Given the description of an element on the screen output the (x, y) to click on. 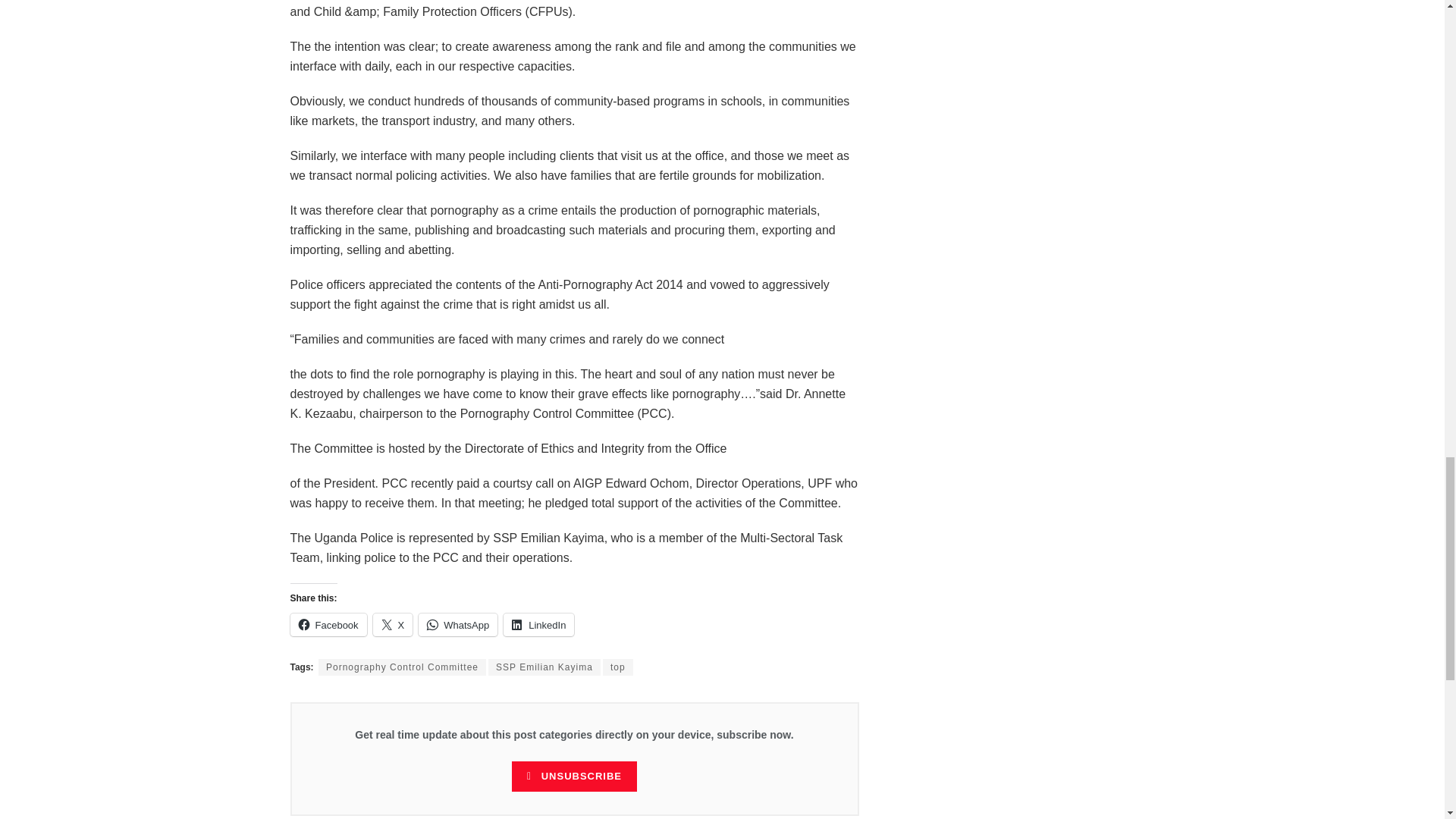
Click to share on X (392, 624)
Click to share on WhatsApp (458, 624)
Click to share on LinkedIn (538, 624)
Click to share on Facebook (327, 624)
